Given the description of an element on the screen output the (x, y) to click on. 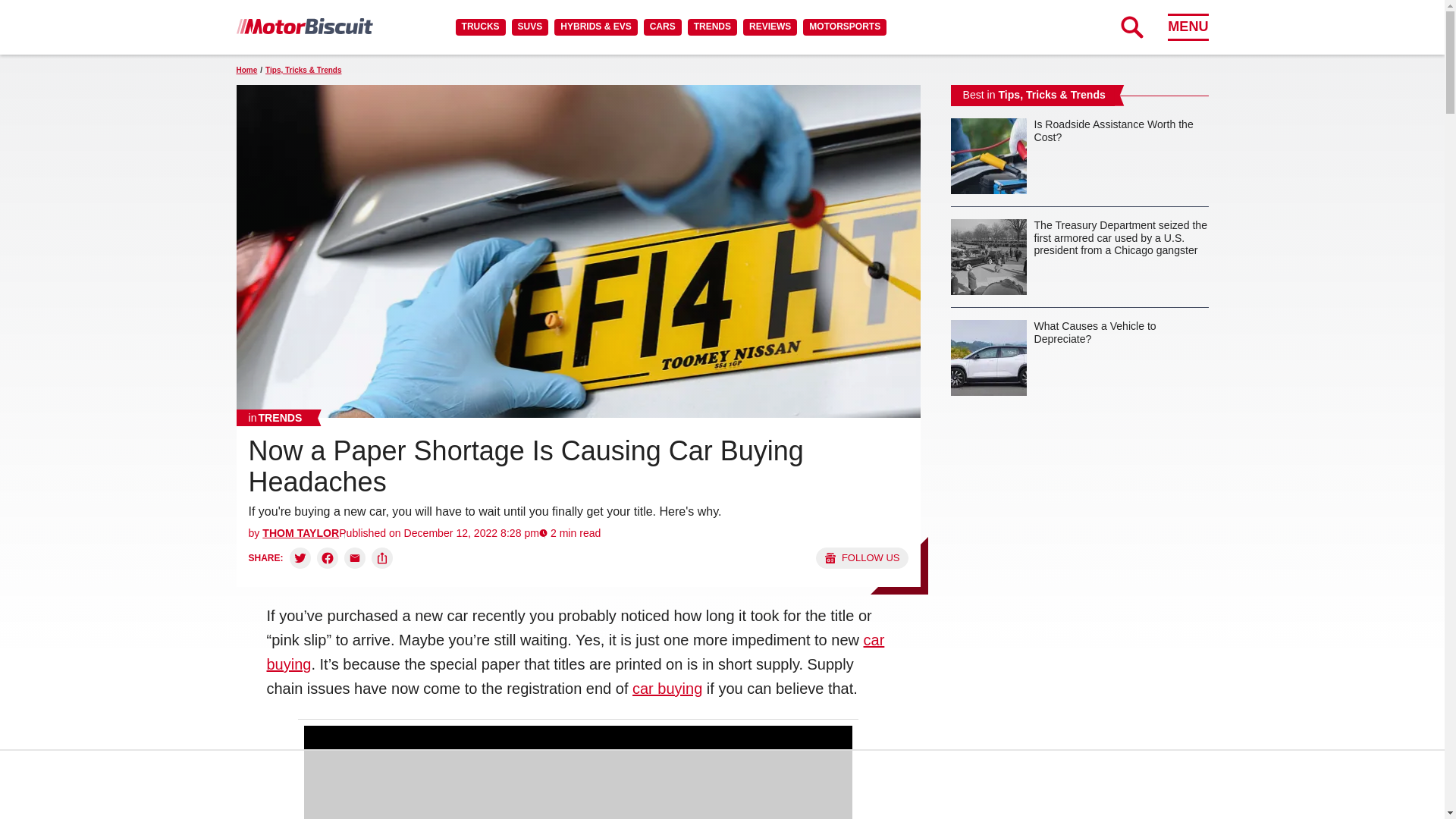
Copy link and share:  (382, 557)
CARS (662, 26)
MENU (1187, 26)
MotorBiscuit (303, 26)
Trends (274, 417)
MOTORSPORTS (844, 26)
Expand Search (1131, 26)
TRUCKS (480, 26)
TRENDS (711, 26)
SUVS (530, 26)
REVIEWS (769, 26)
Follow us on Google News (861, 557)
